Given the description of an element on the screen output the (x, y) to click on. 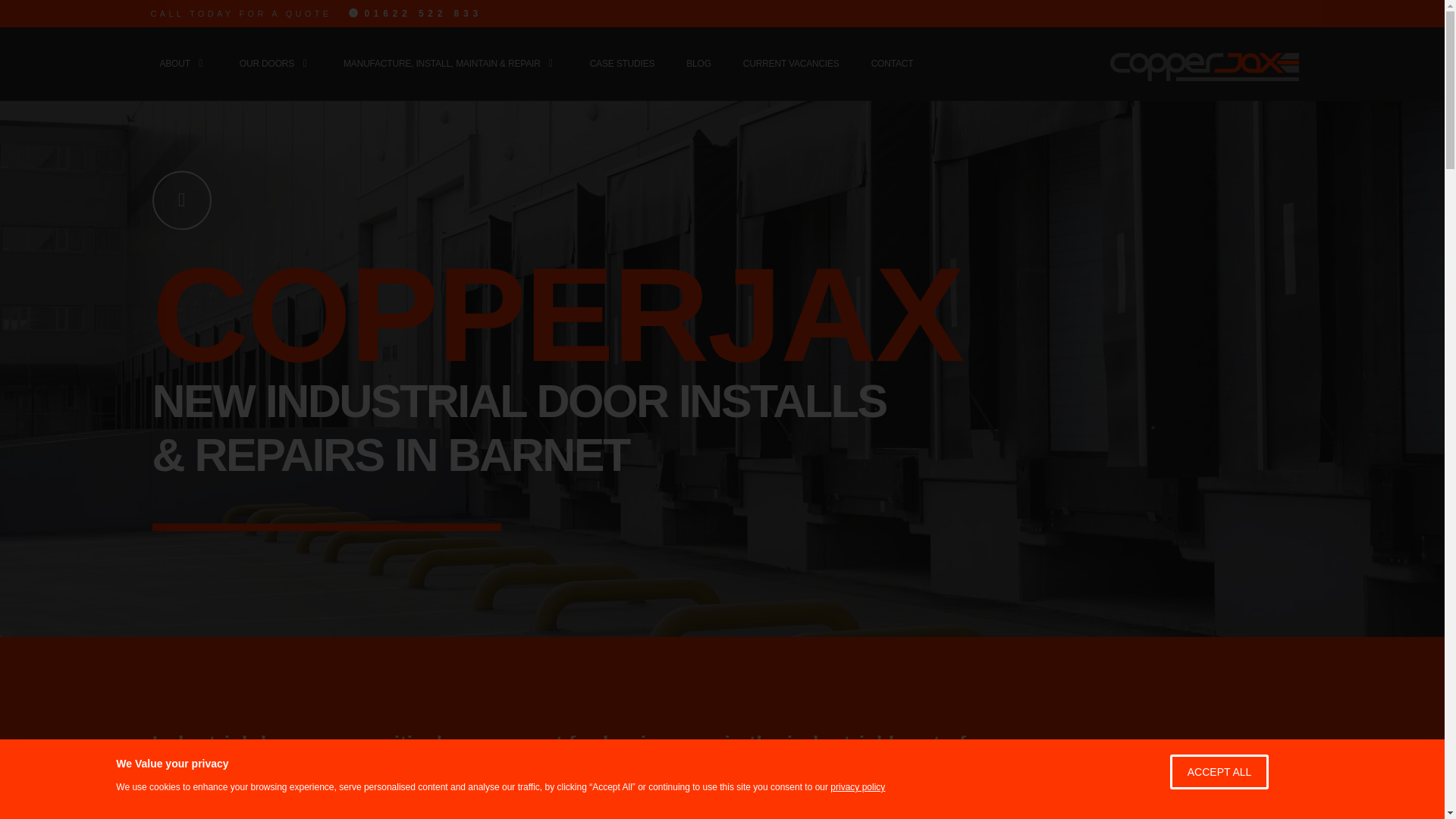
BLOG (698, 62)
CASE STUDIES (622, 62)
ABOUT (173, 12)
OUR DOORS (267, 42)
CONTACT (892, 62)
CURRENT VACANCIES (791, 62)
